Given the description of an element on the screen output the (x, y) to click on. 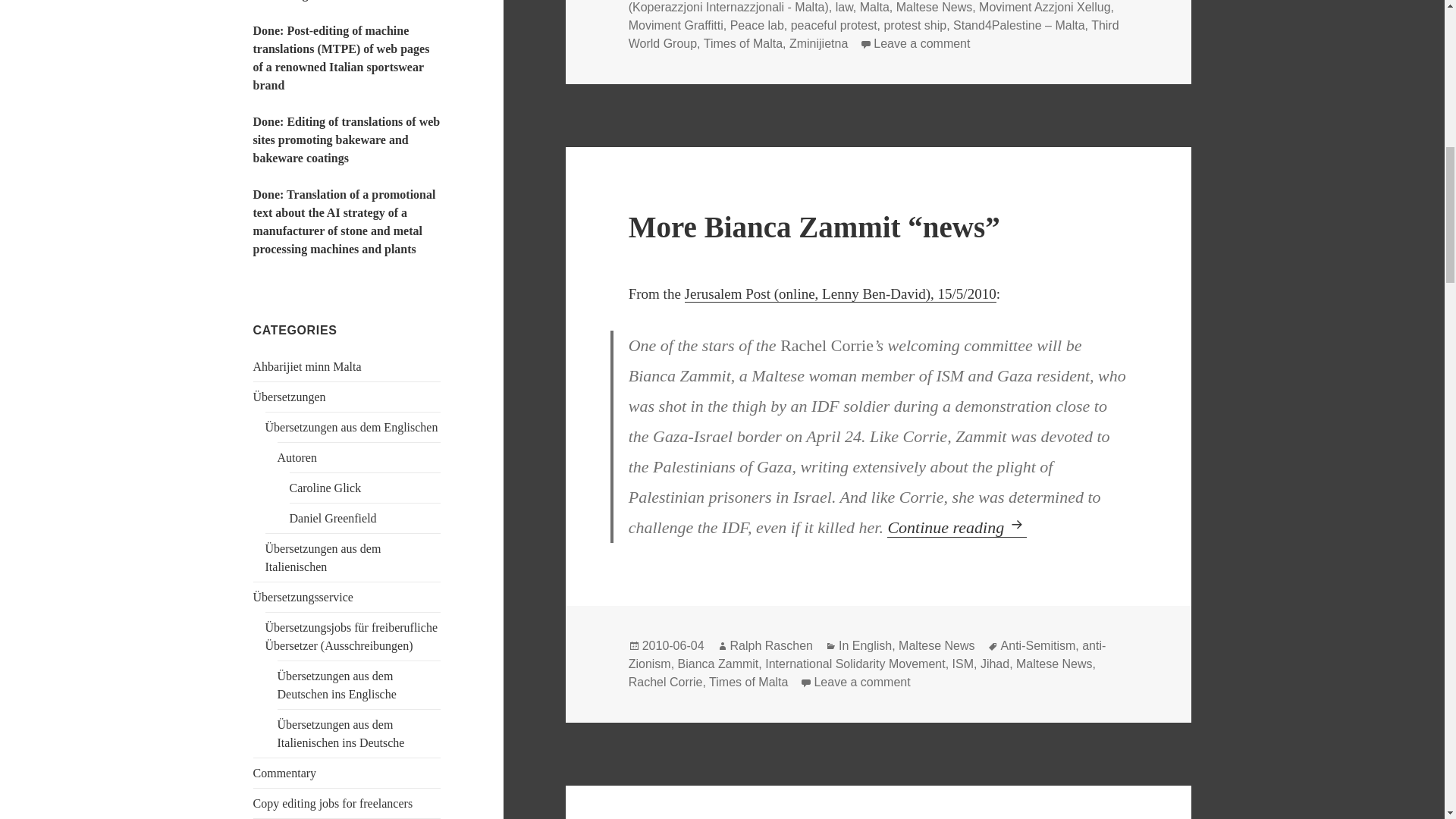
Commentary (285, 772)
Caroline Glick (325, 487)
Copy editing jobs for freelancers (333, 802)
Ahbarijiet minn Malta (307, 366)
Daniel Greenfield (333, 517)
Autoren (297, 457)
